Given the description of an element on the screen output the (x, y) to click on. 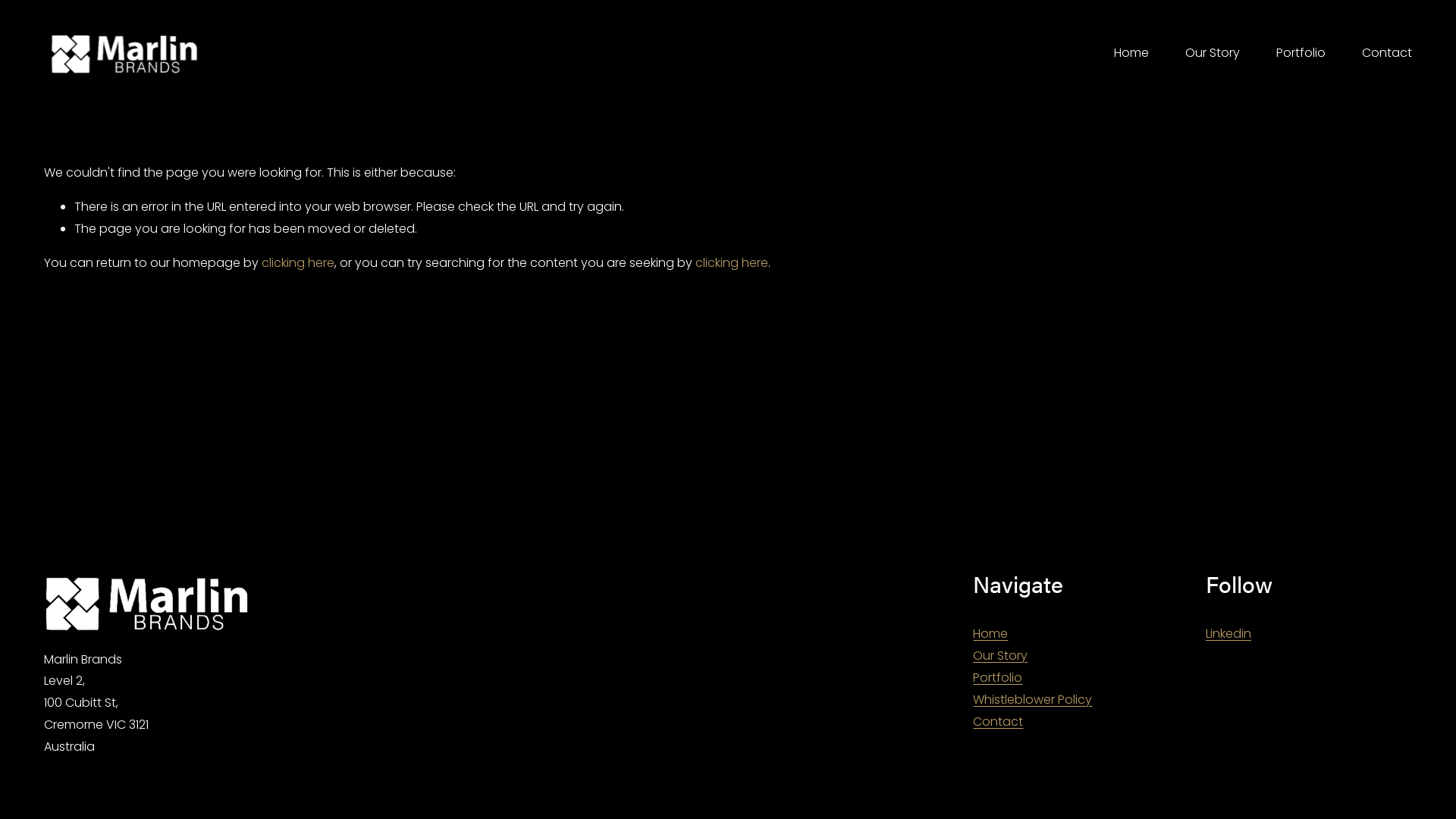
Linkedin Element type: text (1228, 634)
clicking here Element type: text (731, 262)
Portfolio Element type: text (997, 678)
Our Story Element type: text (999, 656)
Contact Element type: text (1386, 52)
Portfolio Element type: text (1300, 52)
Contact Element type: text (997, 722)
Our Story Element type: text (1212, 52)
clicking here Element type: text (297, 262)
Home Element type: text (989, 634)
Whistleblower Policy Element type: text (1032, 700)
Home Element type: text (1130, 52)
